Given the description of an element on the screen output the (x, y) to click on. 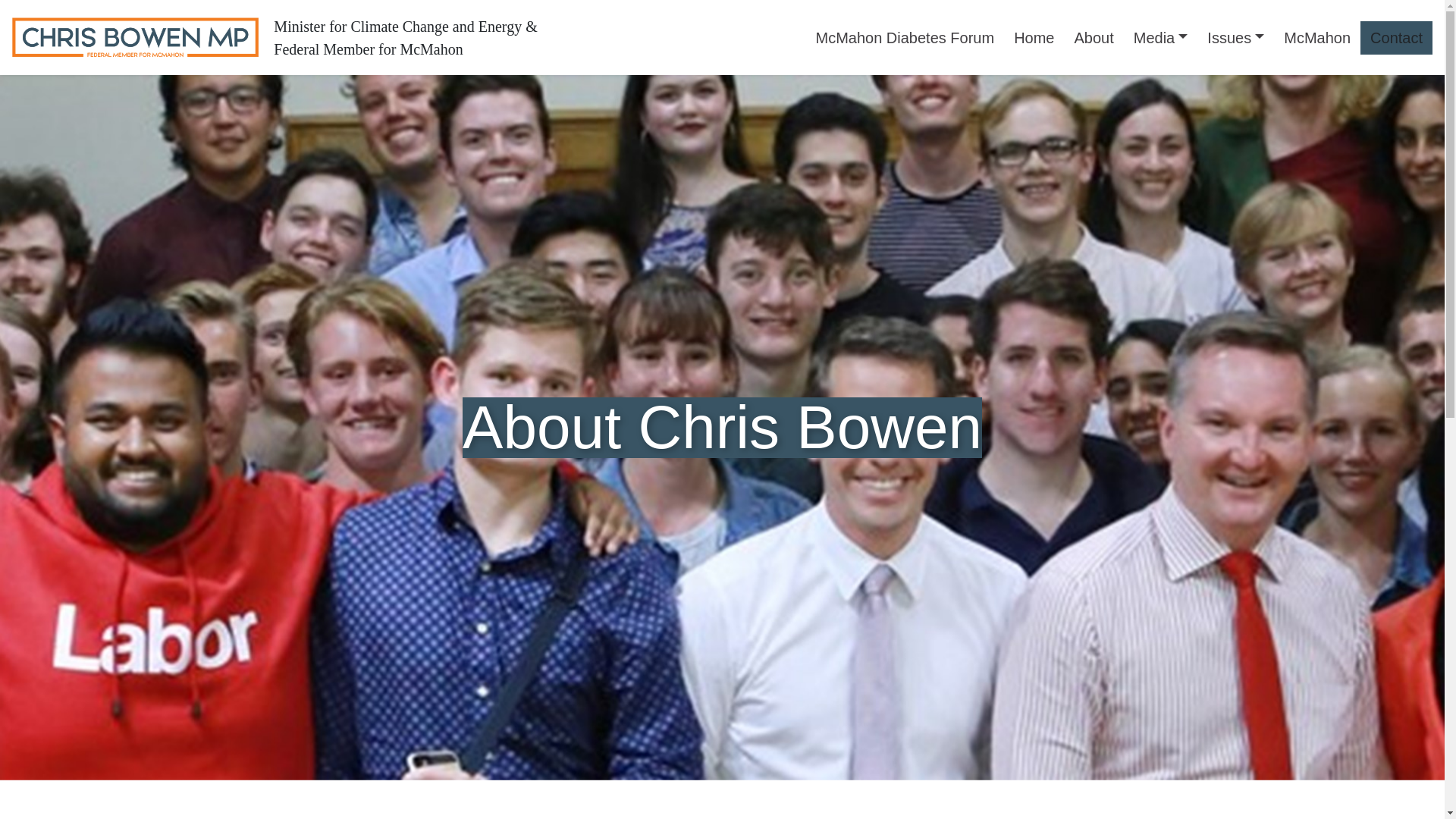
Media (1161, 37)
McMahon (1316, 37)
Issues (1235, 37)
Contact (1395, 37)
About (1094, 37)
McMahon Diabetes Forum (904, 37)
Home (1034, 37)
